Given the description of an element on the screen output the (x, y) to click on. 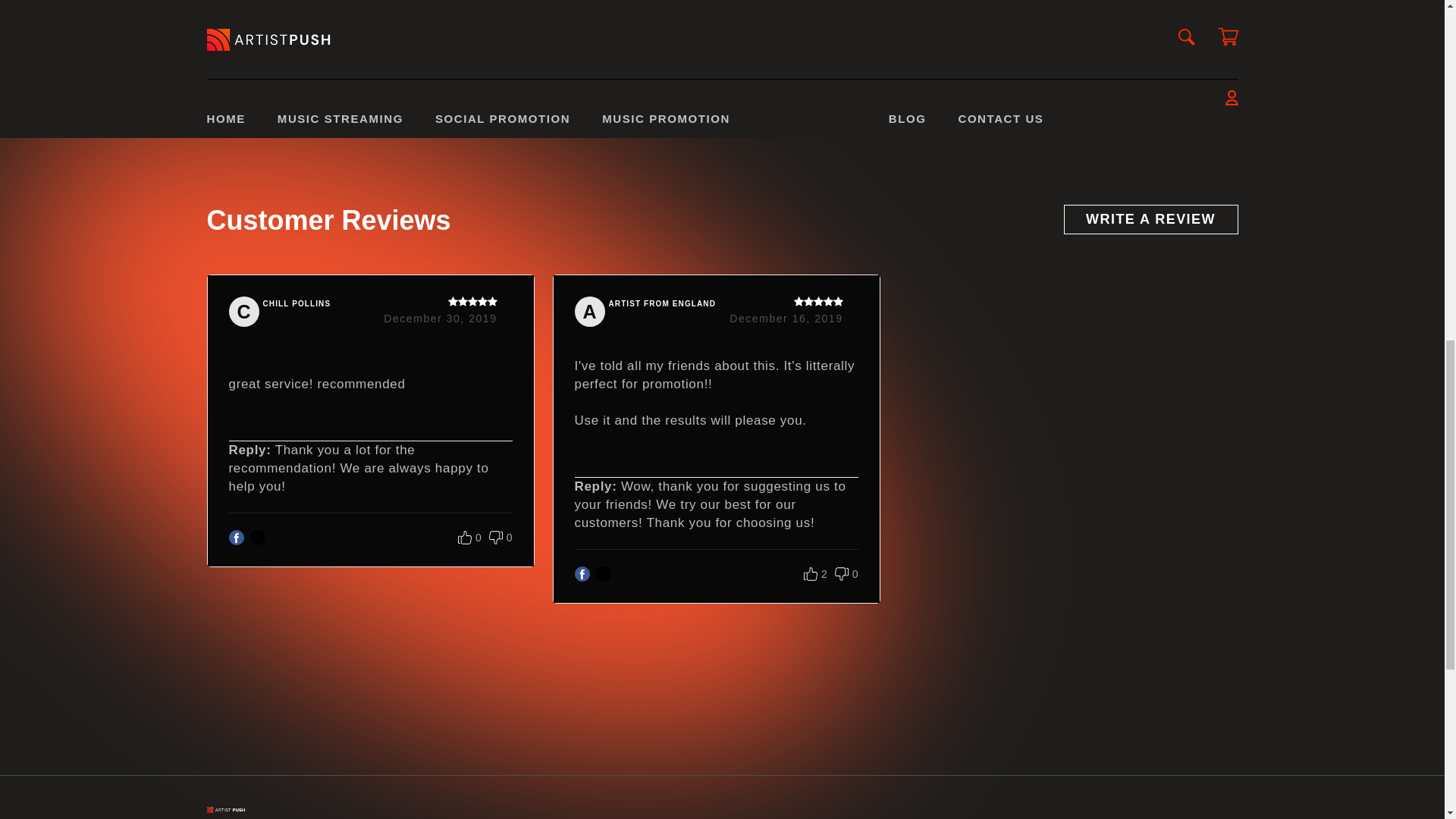
Pin on Pinterest (703, 66)
Share on Facebook (652, 66)
